Given the description of an element on the screen output the (x, y) to click on. 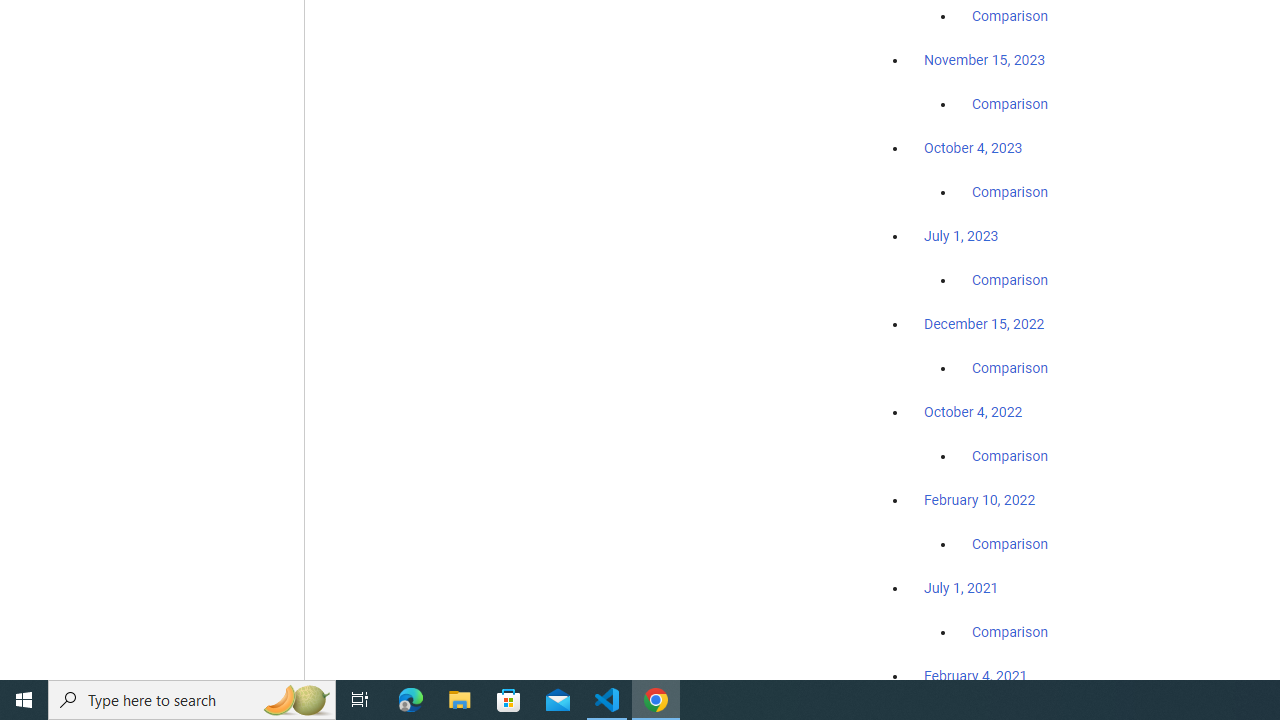
November 15, 2023 (984, 60)
Microsoft Edge (411, 699)
October 4, 2022 (973, 412)
December 15, 2022 (984, 323)
Type here to search (191, 699)
February 10, 2022 (979, 500)
Visual Studio Code - 1 running window (607, 699)
February 4, 2021 (975, 675)
Google Chrome - 1 running window (656, 699)
October 4, 2023 (973, 148)
Comparison (1009, 631)
File Explorer (460, 699)
Microsoft Store (509, 699)
Search highlights icon opens search home window (295, 699)
